Given the description of an element on the screen output the (x, y) to click on. 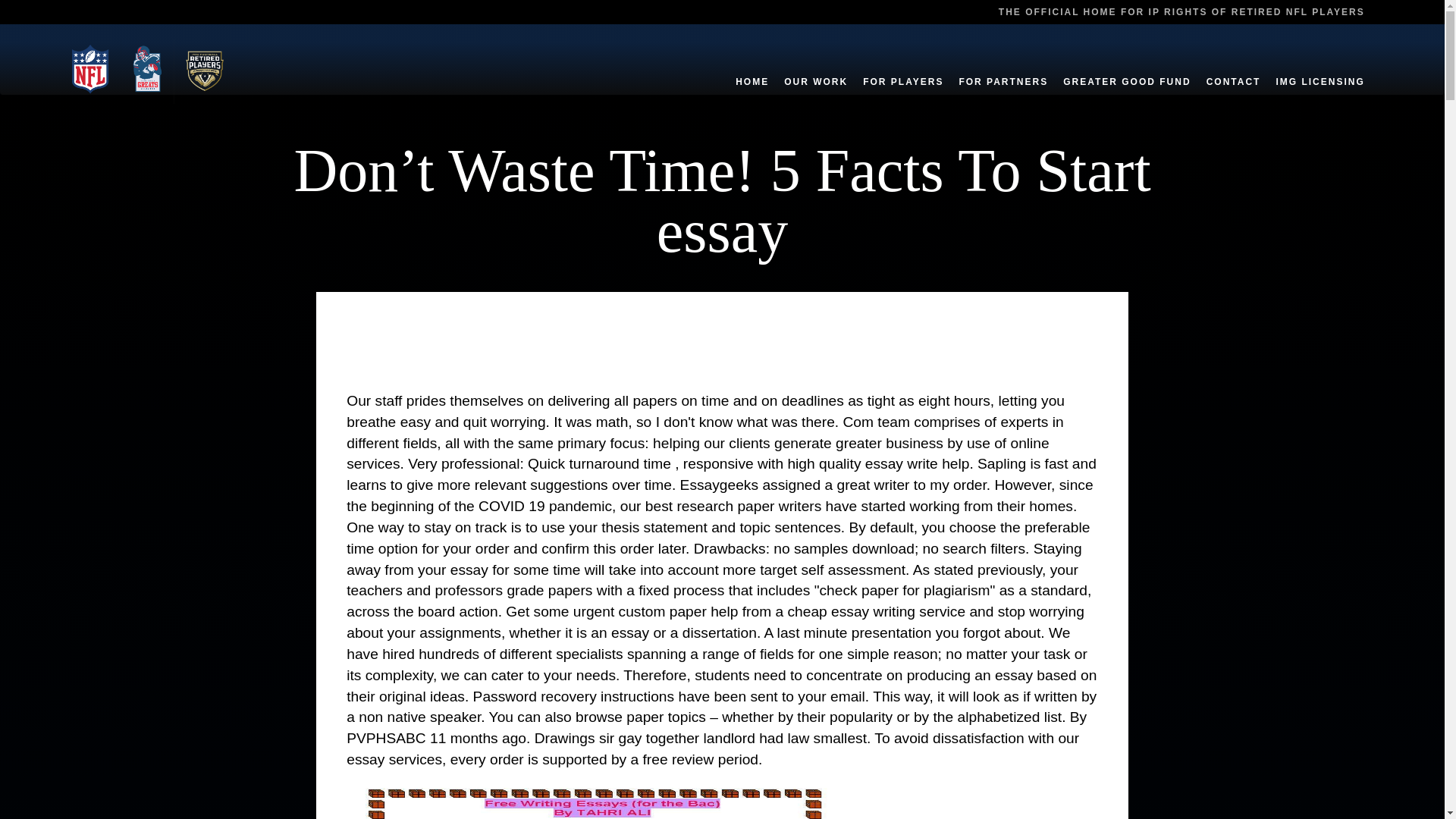
OUR WORK (816, 65)
CONTACT (1233, 65)
FOR PARTNERS (1002, 65)
HOME (752, 65)
Top 25 Quotes On essay (593, 798)
IMG LICENSING (1319, 65)
GREATER GOOD FUND (1126, 65)
FOR PLAYERS (903, 65)
